Given the description of an element on the screen output the (x, y) to click on. 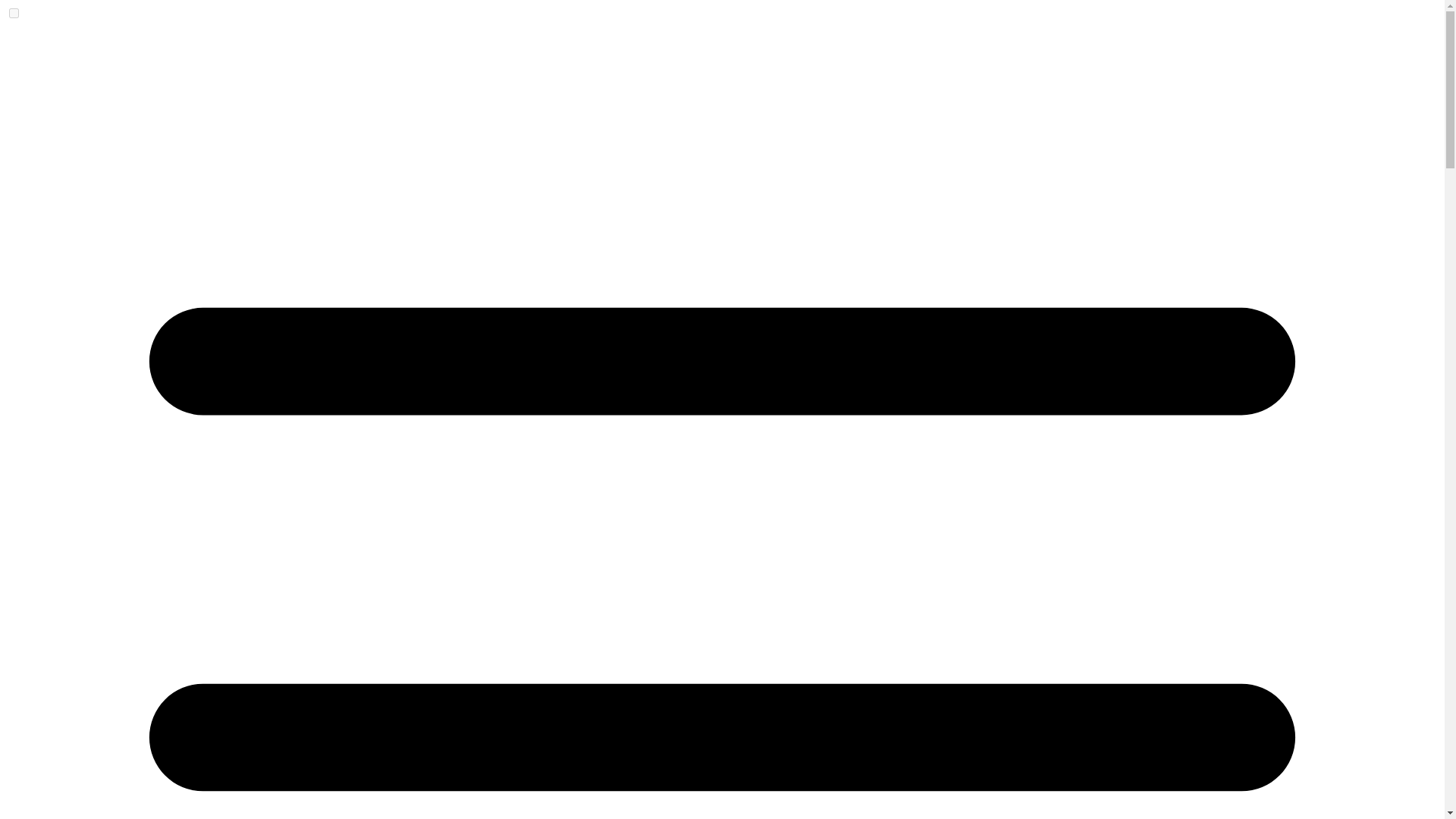
on (13, 13)
